Given the description of an element on the screen output the (x, y) to click on. 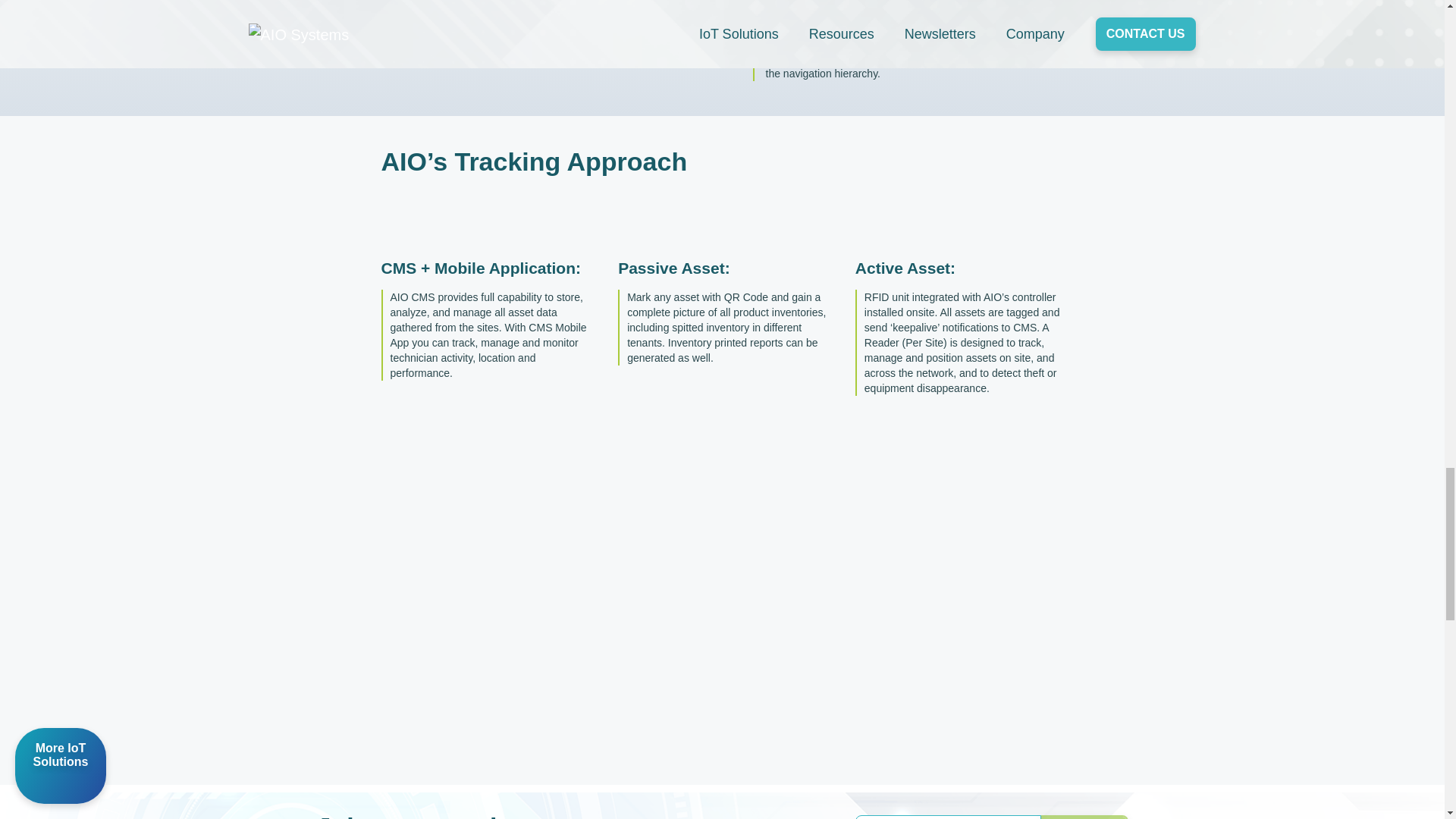
Sign Up (1083, 816)
Sign Up (1083, 816)
